Given the description of an element on the screen output the (x, y) to click on. 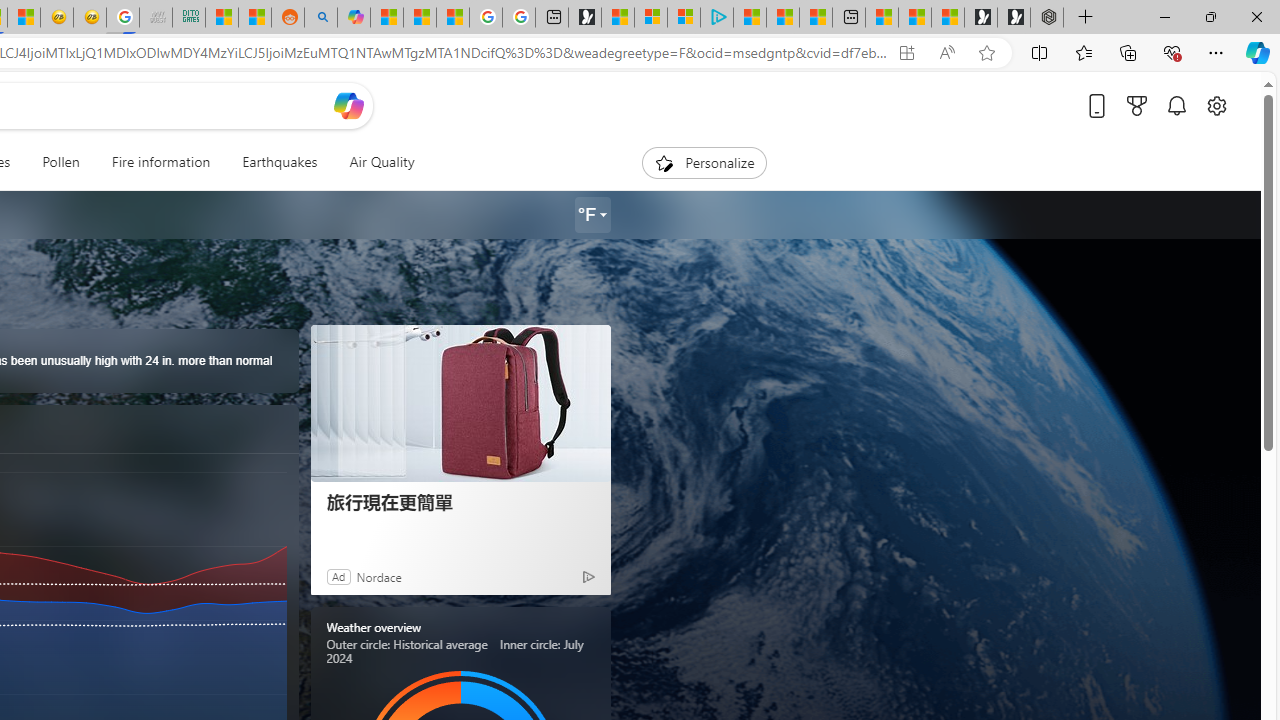
Pollen (60, 162)
Air Quality (373, 162)
Earthquakes (280, 162)
Utah sues federal government - Search (320, 17)
